Given the description of an element on the screen output the (x, y) to click on. 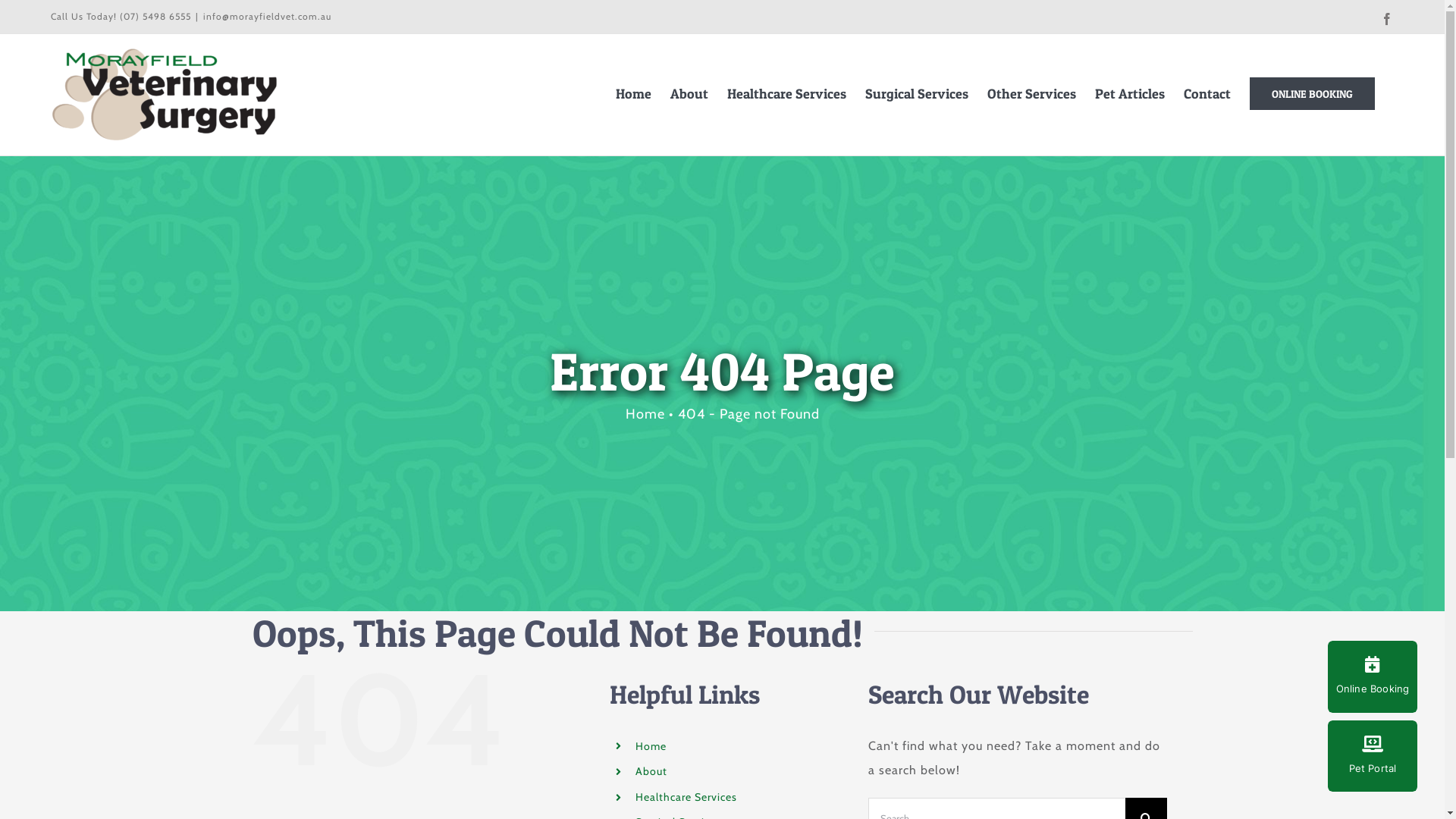
ONLINE BOOKING Element type: text (1311, 93)
Other Services Element type: text (1031, 93)
Surgical Services Element type: text (916, 93)
Home Element type: text (644, 413)
info@morayfieldvet.com.au Element type: text (267, 15)
Pet Articles Element type: text (1129, 93)
Healthcare Services Element type: text (686, 796)
Contact Element type: text (1206, 93)
About Element type: text (651, 771)
Home Element type: text (650, 746)
About Element type: text (689, 93)
Healthcare Services Element type: text (786, 93)
Facebook Element type: text (1386, 18)
Home Element type: text (633, 93)
